Given the description of an element on the screen output the (x, y) to click on. 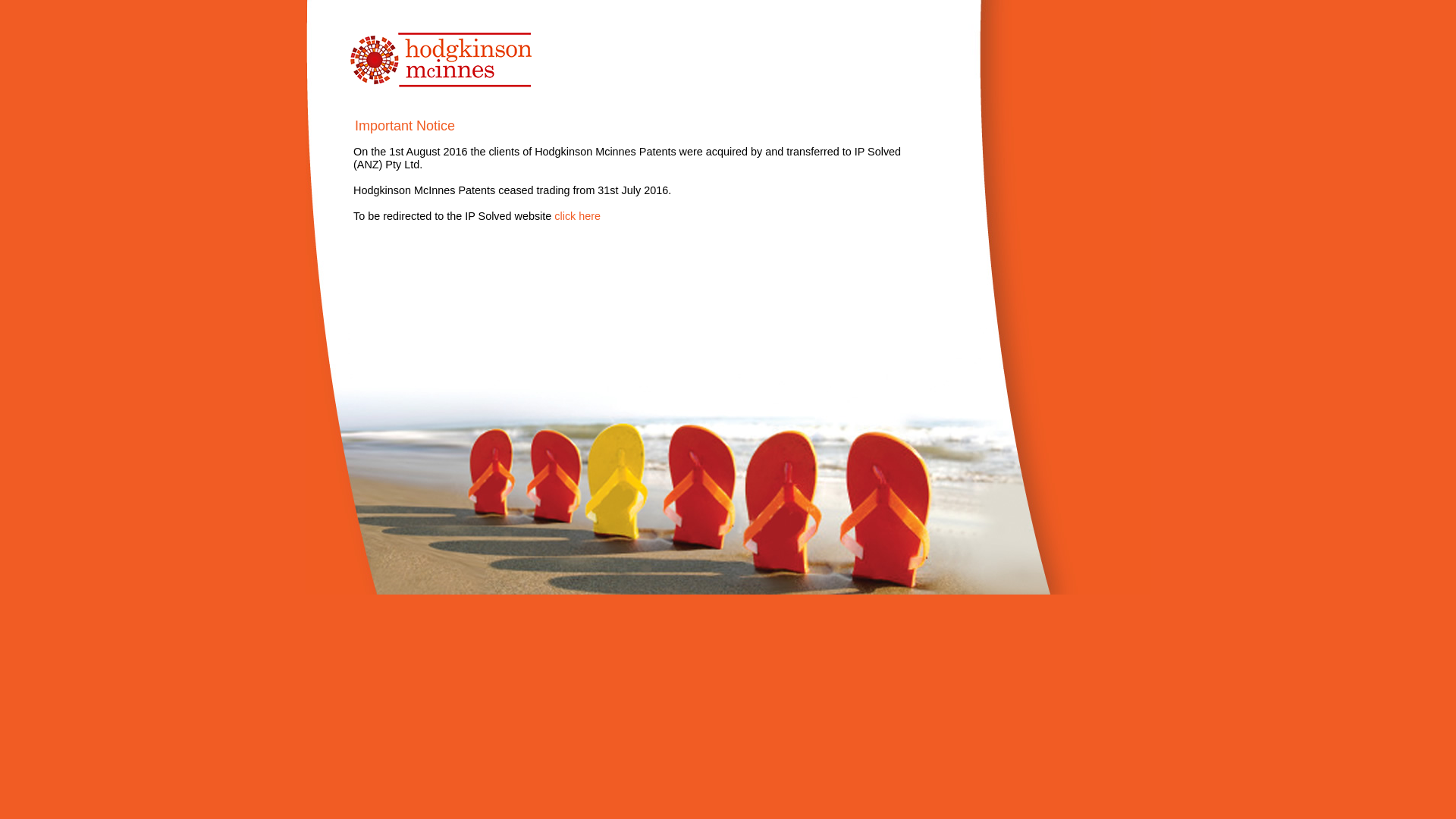
click here Element type: text (577, 216)
